Given the description of an element on the screen output the (x, y) to click on. 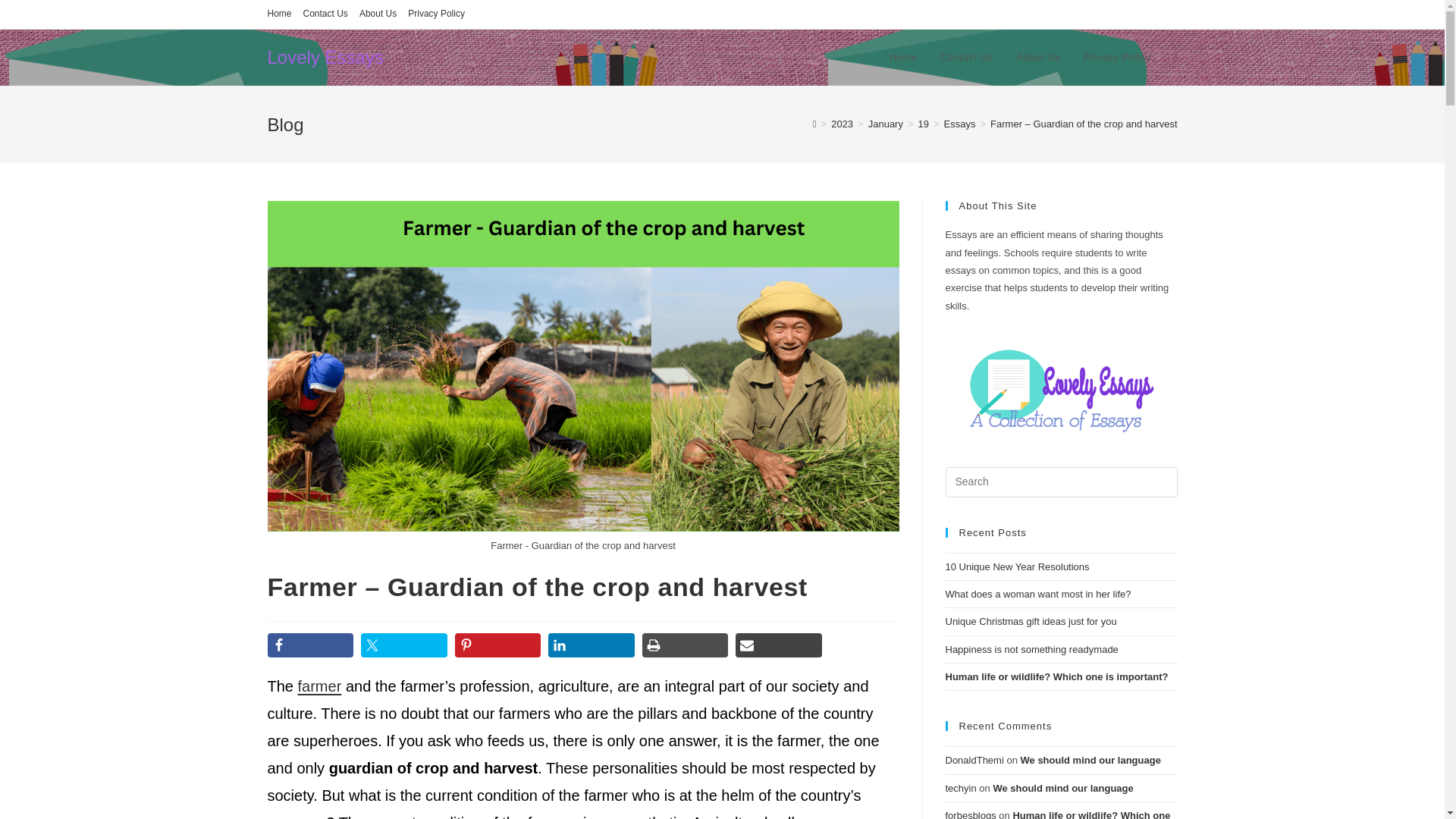
Home (278, 13)
Contact Us (966, 57)
Print this Page (685, 645)
January (884, 123)
Share on Facebook (309, 645)
Share on LinkedIn (591, 645)
Privacy Policy (435, 13)
Share on Twitter (403, 645)
Lovely Essays (324, 56)
About Us (377, 13)
